Given the description of an element on the screen output the (x, y) to click on. 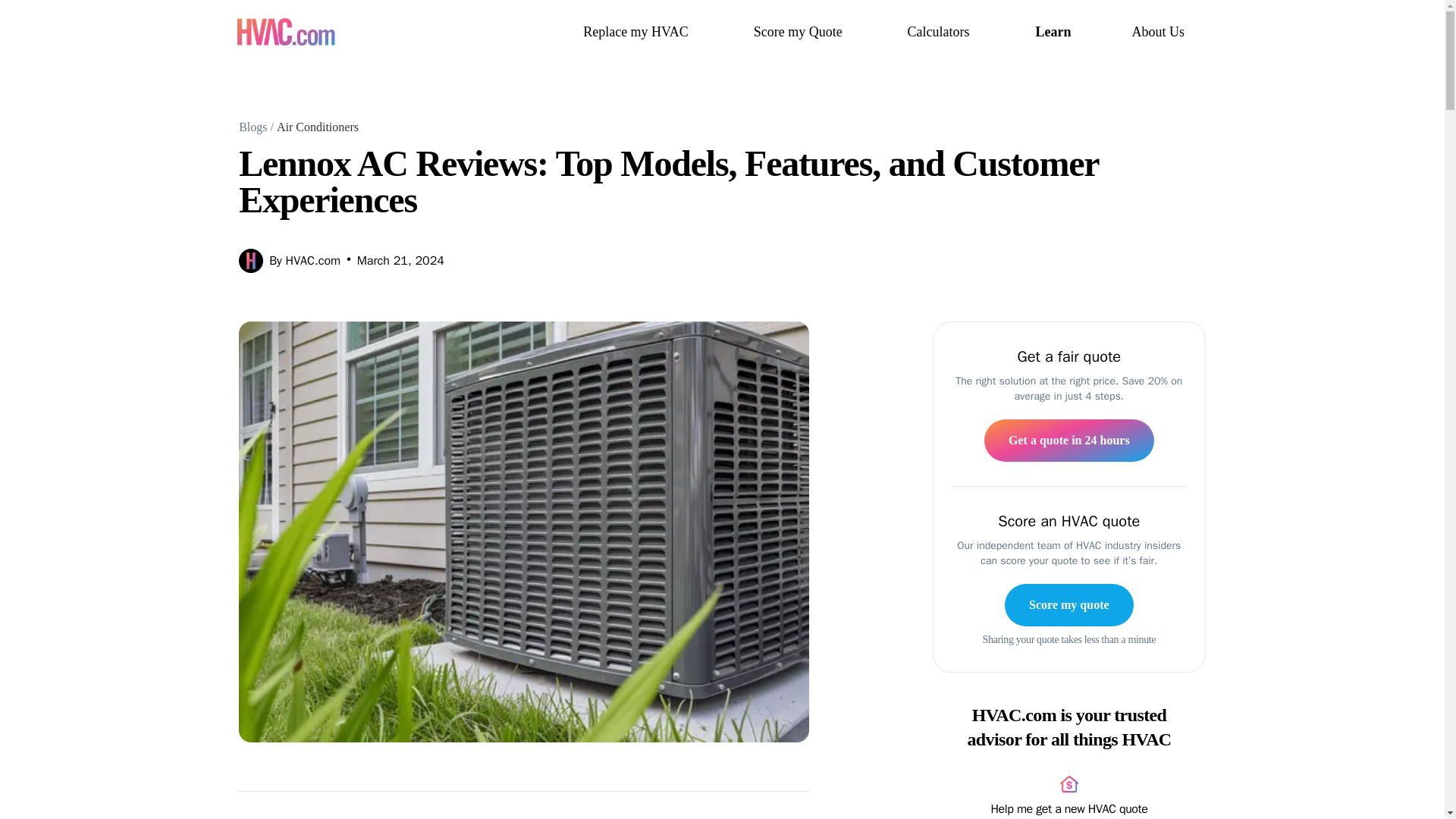
Blogs (252, 126)
Replace my HVAC (638, 31)
Score my quote (1068, 604)
About Us (1158, 31)
Get a quote in 24 hours (1069, 440)
Score my Quote (799, 31)
Calculators (940, 31)
Learn (1052, 31)
Help me get a new HVAC quote (1069, 796)
